Given the description of an element on the screen output the (x, y) to click on. 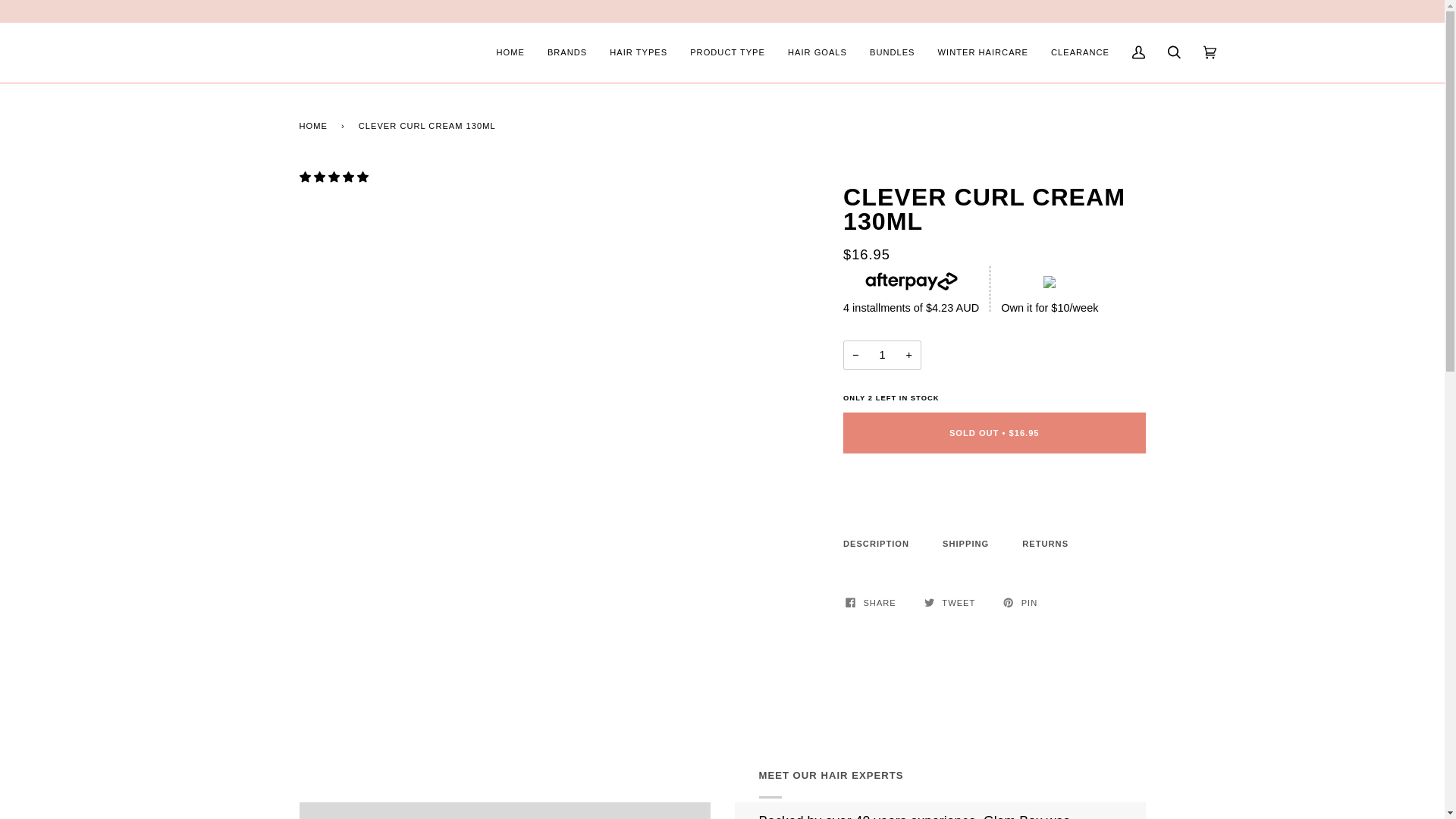
Back to the frontpage (314, 126)
BRANDS (566, 52)
1 (882, 355)
